Given the description of an element on the screen output the (x, y) to click on. 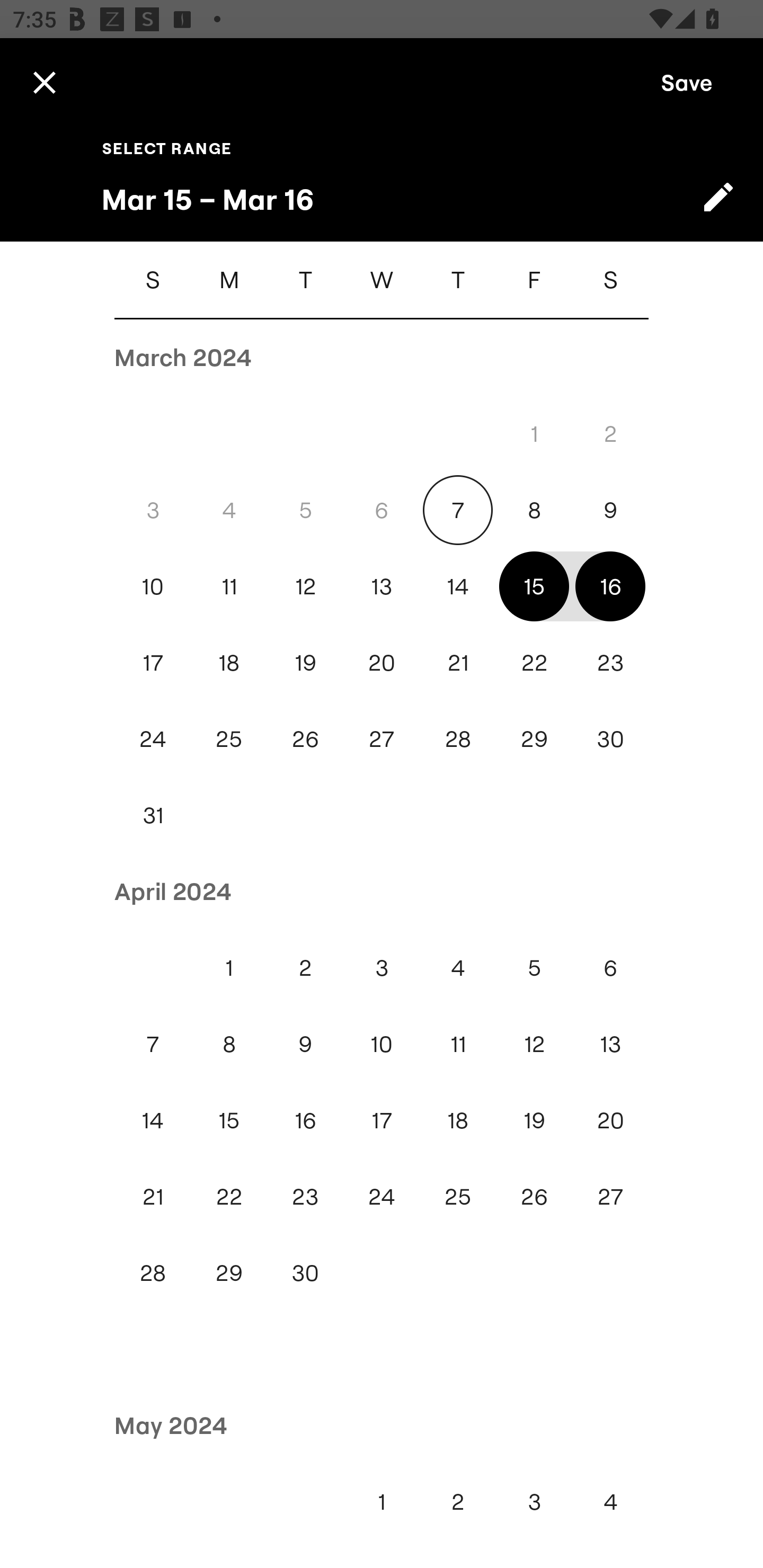
Cancel (44, 81)
Save (686, 81)
Switch to text input mode (718, 196)
1 Fri, Mar 1 (533, 433)
2 Sat, Mar 2 (610, 433)
3 Sun, Mar 3 (152, 509)
4 Mon, Mar 4 (228, 509)
5 Tue, Mar 5 (305, 509)
6 Wed, Mar 6 (381, 509)
7 Thu, Mar 7 (457, 509)
8 Fri, Mar 8 (533, 509)
9 Sat, Mar 9 (610, 509)
10 Sun, Mar 10 (152, 586)
11 Mon, Mar 11 (228, 586)
12 Tue, Mar 12 (305, 586)
13 Wed, Mar 13 (381, 586)
14 Thu, Mar 14 (457, 586)
15 Fri, Mar 15 (533, 586)
16 Sat, Mar 16 (610, 586)
17 Sun, Mar 17 (152, 662)
18 Mon, Mar 18 (228, 662)
19 Tue, Mar 19 (305, 662)
20 Wed, Mar 20 (381, 662)
21 Thu, Mar 21 (457, 662)
22 Fri, Mar 22 (533, 662)
23 Sat, Mar 23 (610, 662)
24 Sun, Mar 24 (152, 738)
25 Mon, Mar 25 (228, 738)
26 Tue, Mar 26 (305, 738)
27 Wed, Mar 27 (381, 738)
28 Thu, Mar 28 (457, 738)
29 Fri, Mar 29 (533, 738)
30 Sat, Mar 30 (610, 738)
31 Sun, Mar 31 (152, 814)
1 Mon, Apr 1 (228, 967)
2 Tue, Apr 2 (305, 967)
3 Wed, Apr 3 (381, 967)
4 Thu, Apr 4 (457, 967)
5 Fri, Apr 5 (533, 967)
6 Sat, Apr 6 (610, 967)
7 Sun, Apr 7 (152, 1043)
8 Mon, Apr 8 (228, 1043)
9 Tue, Apr 9 (305, 1043)
10 Wed, Apr 10 (381, 1043)
11 Thu, Apr 11 (457, 1043)
12 Fri, Apr 12 (533, 1043)
13 Sat, Apr 13 (610, 1043)
14 Sun, Apr 14 (152, 1119)
15 Mon, Apr 15 (228, 1119)
16 Tue, Apr 16 (305, 1119)
17 Wed, Apr 17 (381, 1119)
18 Thu, Apr 18 (457, 1119)
19 Fri, Apr 19 (533, 1119)
20 Sat, Apr 20 (610, 1119)
21 Sun, Apr 21 (152, 1196)
22 Mon, Apr 22 (228, 1196)
23 Tue, Apr 23 (305, 1196)
24 Wed, Apr 24 (381, 1196)
25 Thu, Apr 25 (457, 1196)
26 Fri, Apr 26 (533, 1196)
27 Sat, Apr 27 (610, 1196)
28 Sun, Apr 28 (152, 1272)
29 Mon, Apr 29 (228, 1272)
30 Tue, Apr 30 (305, 1272)
1 Wed, May 1 (381, 1500)
2 Thu, May 2 (457, 1500)
3 Fri, May 3 (533, 1500)
4 Sat, May 4 (610, 1500)
